Given the description of an element on the screen output the (x, y) to click on. 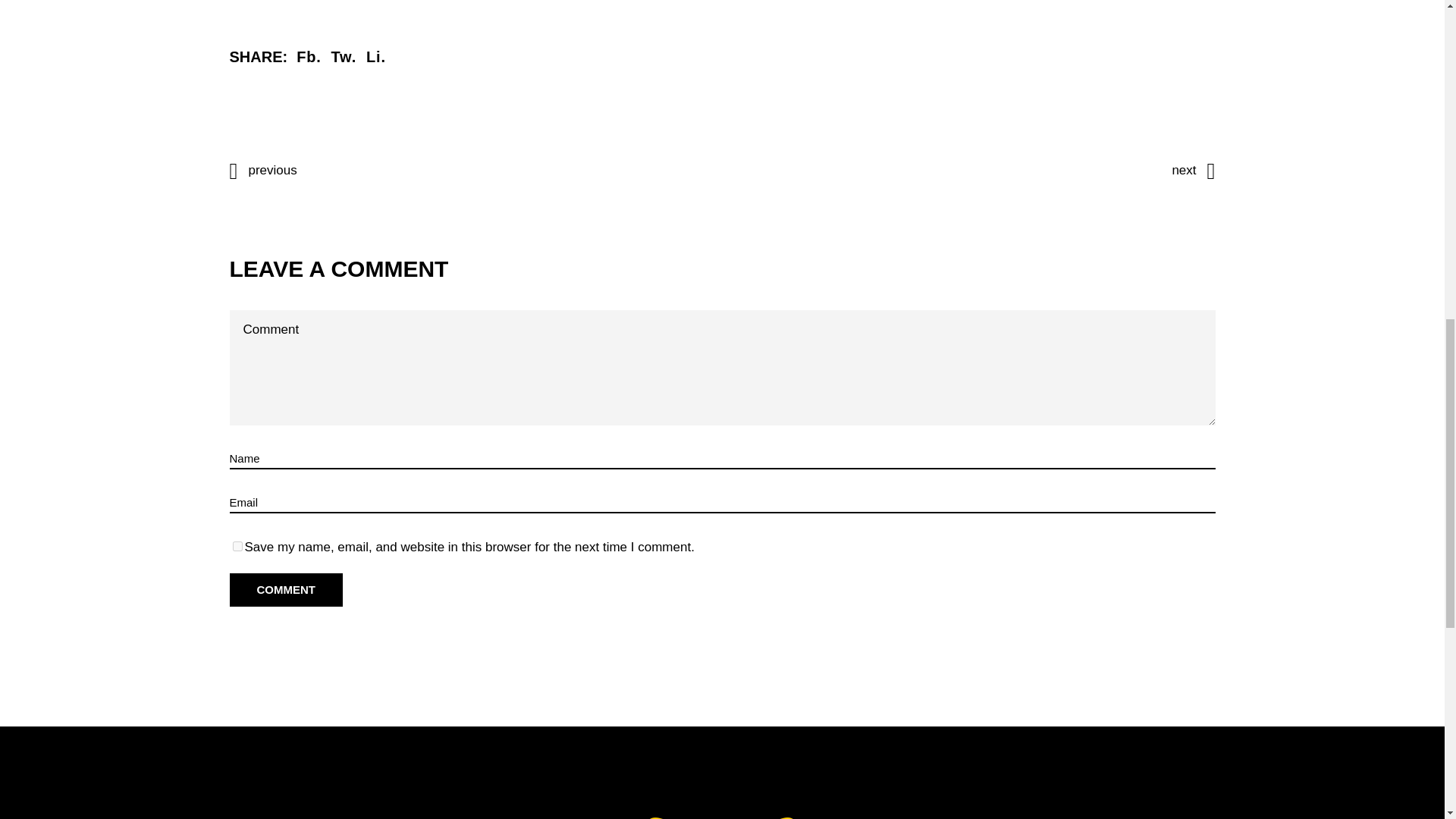
Comment (285, 589)
Tw. (343, 56)
yes (236, 546)
Li. (375, 56)
Fb. (308, 56)
previous (262, 170)
Comment (285, 589)
next (1193, 170)
